Given the description of an element on the screen output the (x, y) to click on. 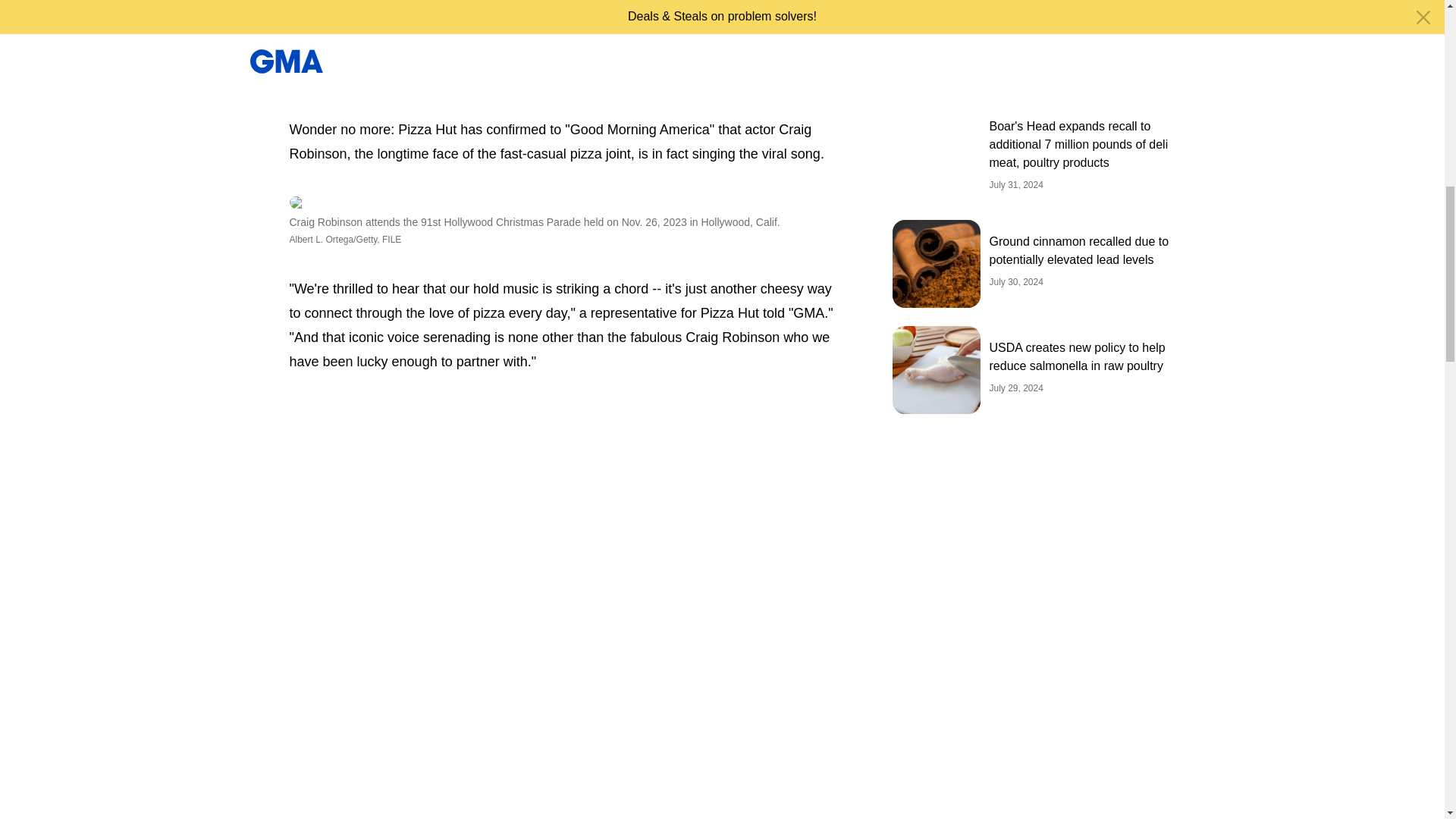
chicken wing (551, 62)
